Given the description of an element on the screen output the (x, y) to click on. 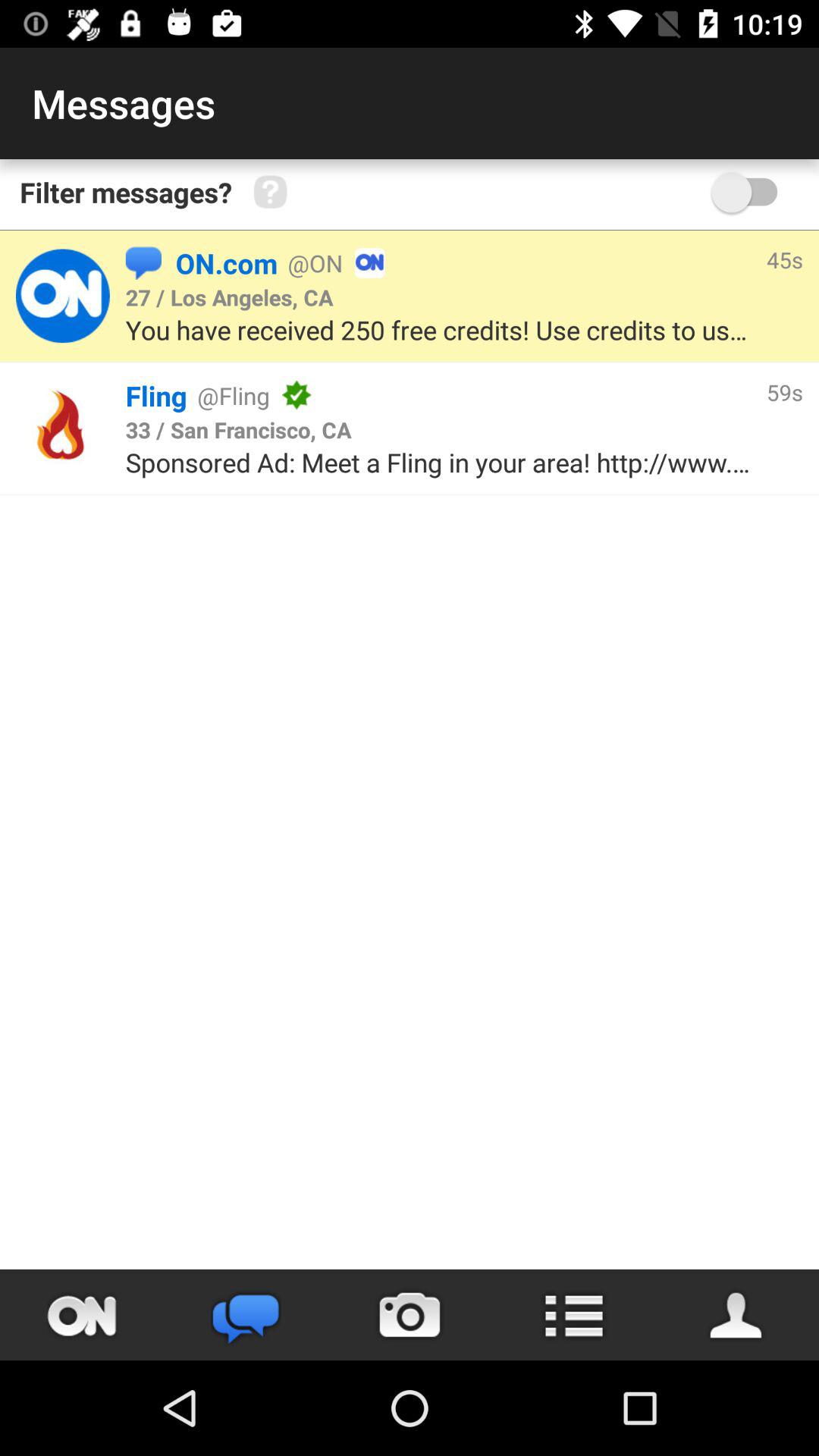
men 's favorite (737, 1315)
